Given the description of an element on the screen output the (x, y) to click on. 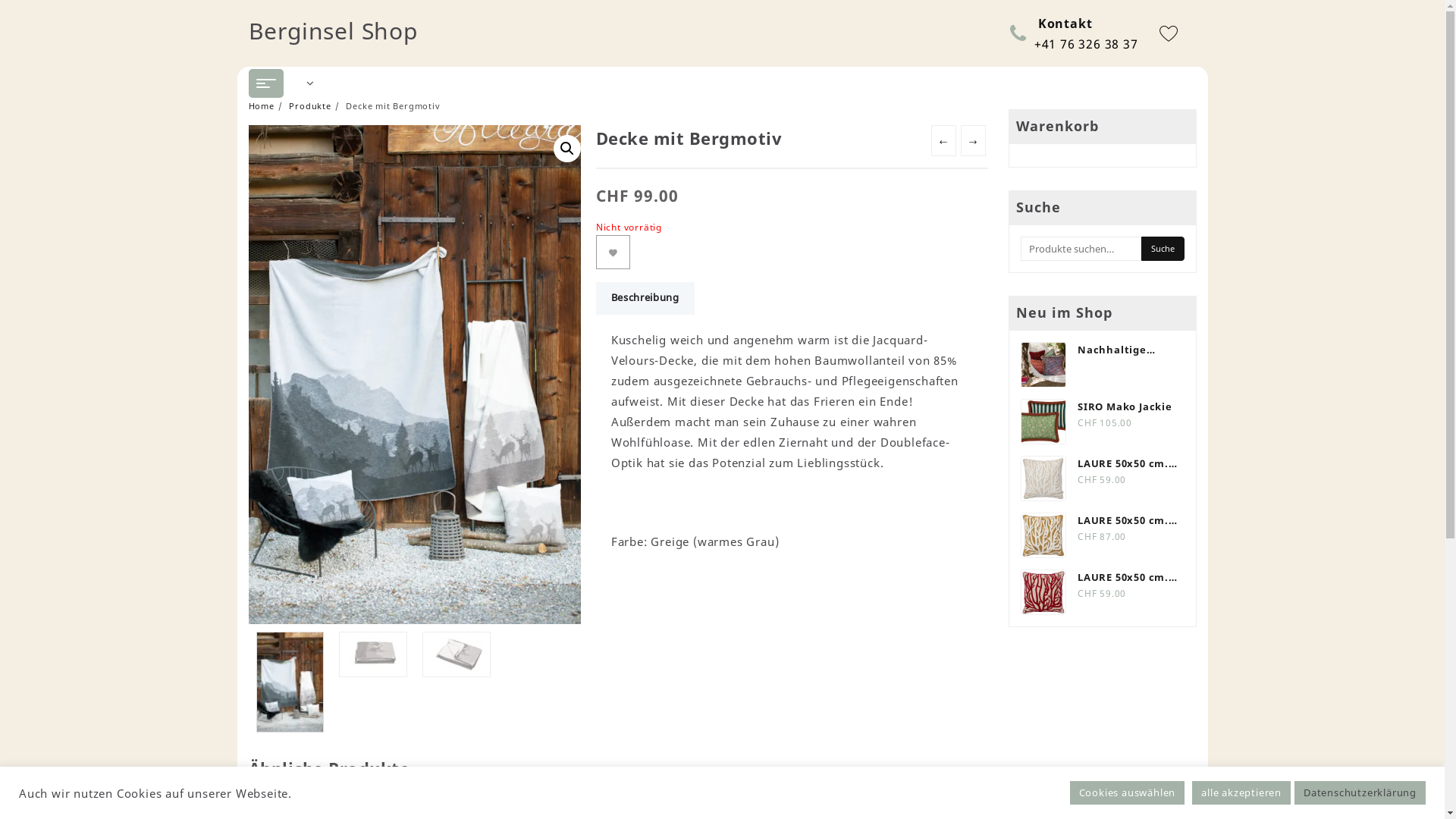
AAW21_0178-98-65_cushion_8089-65-98 Element type: hover (414, 373)
LAURE 50x50 cm. rot Element type: text (1102, 576)
Beschreibung Element type: text (645, 298)
alle akzeptieren Element type: text (1241, 792)
Nachhaltige Kissen "on demand" Handgemacht Element type: text (1102, 349)
LAURE 50x50 cm. Sand Element type: text (1102, 462)
Suche Element type: text (1161, 248)
Produkte Element type: text (309, 105)
Wunschliste Element type: text (613, 252)
LAURE 50x50 cm. Beige / Ecru Element type: text (1102, 520)
Berginsel Shop Element type: text (332, 30)
SIRO Mako Jackie Element type: text (1102, 406)
+41 76 326 38 37 Element type: text (1086, 42)
Home Element type: text (261, 105)
